Given the description of an element on the screen output the (x, y) to click on. 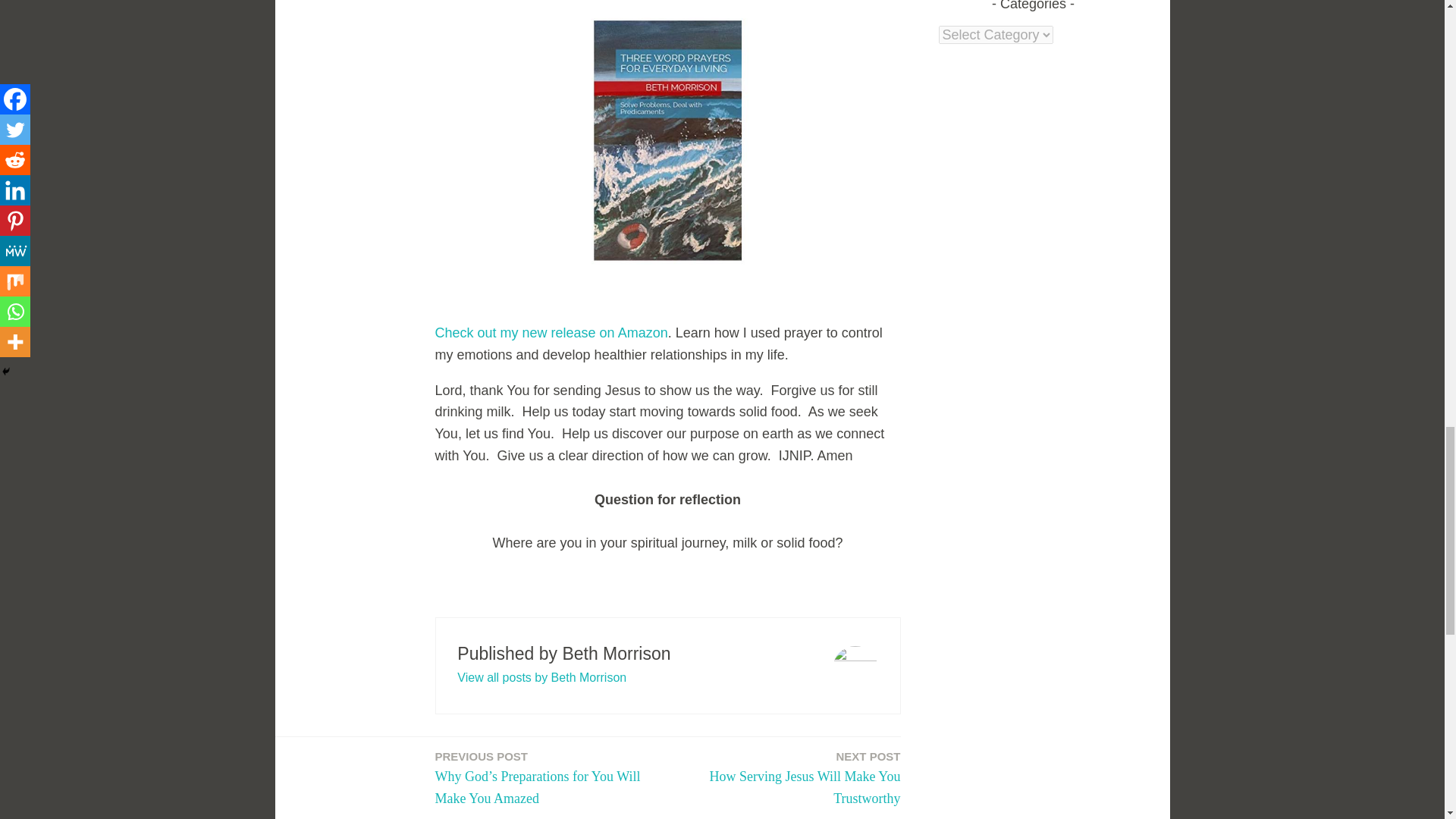
View all posts by Beth Morrison (789, 778)
Check out my new release on Amazon (541, 676)
